Given the description of an element on the screen output the (x, y) to click on. 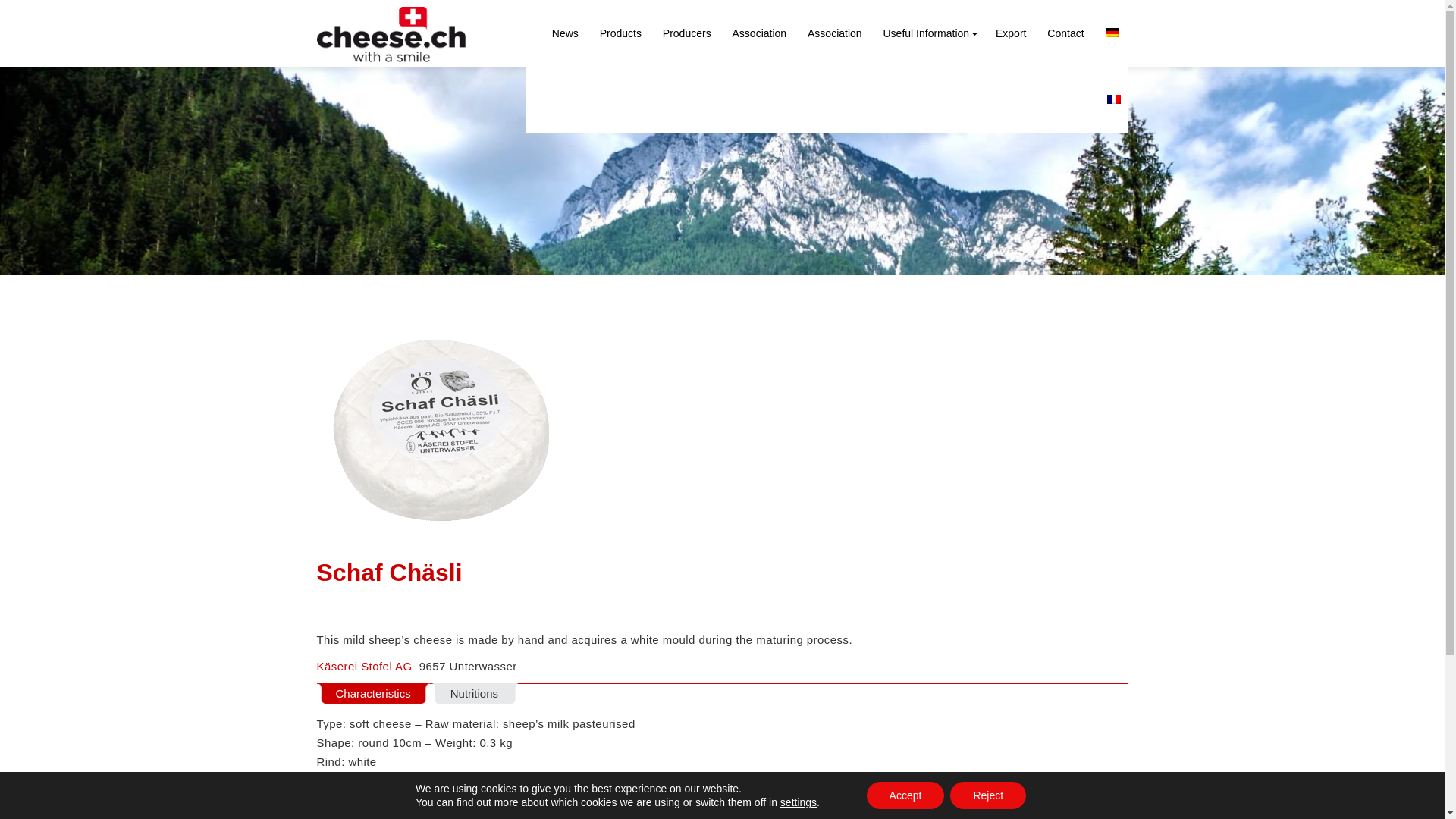
Deutsch Element type: hover (1112, 32)
Contact Element type: text (1065, 33)
Nutritions Element type: text (474, 693)
Accept Element type: text (905, 795)
Association Element type: text (759, 33)
settings Element type: text (798, 802)
Association Element type: text (834, 33)
Producers Element type: text (686, 33)
News Element type: text (565, 33)
Products Element type: text (620, 33)
Useful Information Element type: text (928, 33)
Reject Element type: text (988, 795)
Export Element type: text (1010, 33)
Characteristics Element type: text (372, 693)
